Given the description of an element on the screen output the (x, y) to click on. 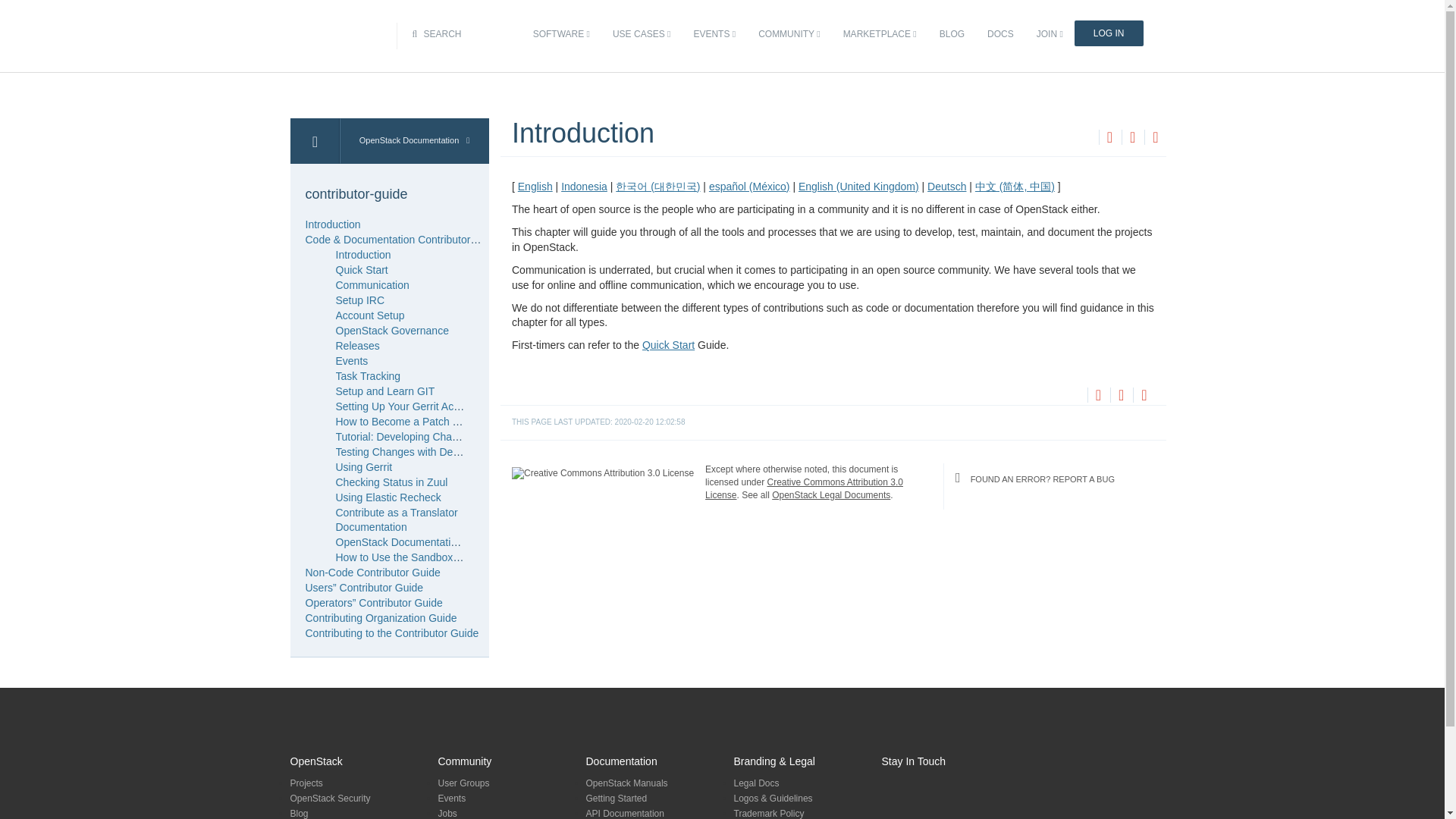
Report a Bug (1155, 136)
Found an error? Report a bug against this page (1155, 138)
USE CASES (641, 34)
Found an error? Report a bug against this page (1143, 396)
Next: Quick Start (1119, 394)
SOFTWARE (561, 34)
Report a Bug (1143, 394)
MARKETPLACE (879, 34)
Next: Quick Start (1131, 136)
OpenStack Docs Home (314, 140)
